Given the description of an element on the screen output the (x, y) to click on. 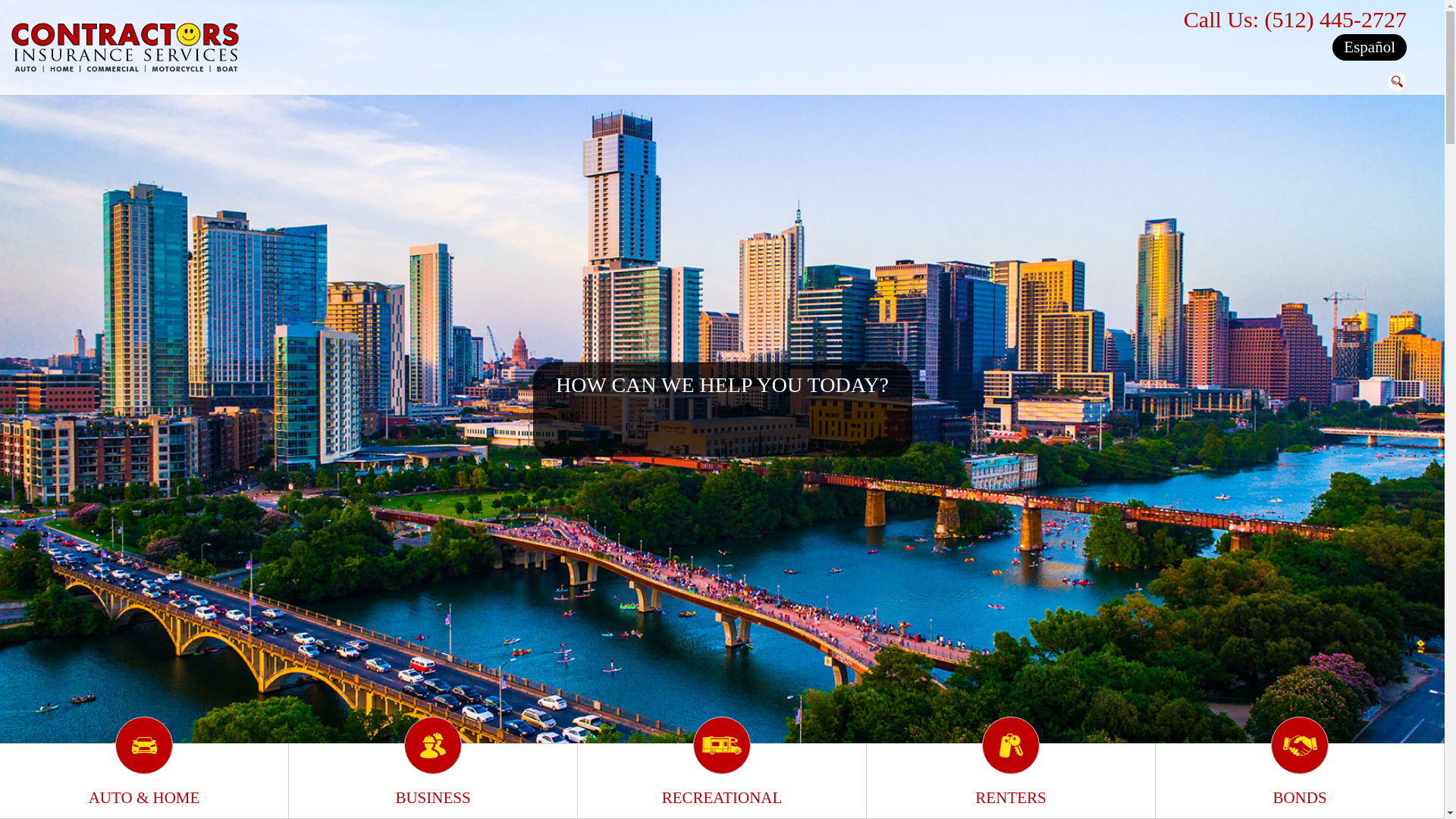
ABOUT US (1265, 802)
BLOG (1018, 802)
RESOURCES (1192, 802)
CUSTOMER SERVICE (935, 802)
MAKE A PAYMENT (1097, 802)
GET A QUOTE (831, 802)
